Given the description of an element on the screen output the (x, y) to click on. 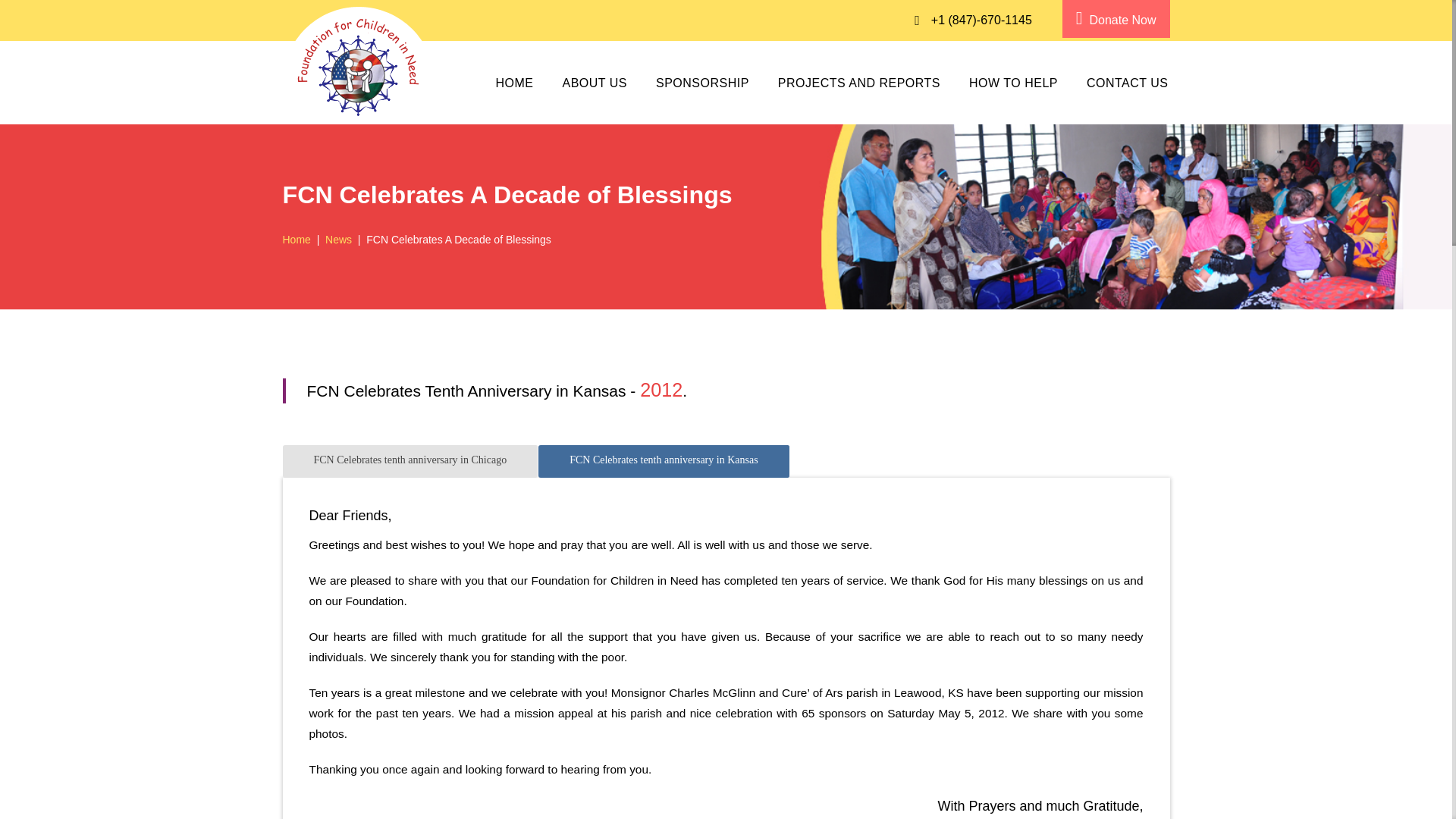
HOW TO HELP (1013, 82)
Home (296, 239)
ABOUT US (594, 82)
News (338, 239)
FCN Celebrates tenth anniversary in Chicago (410, 461)
HOME (513, 82)
CONTACT US (1126, 82)
SPONSORSHIP (702, 82)
FCN Celebrates tenth anniversary in Kansas (663, 461)
PROJECTS AND REPORTS (858, 82)
 Donate Now (1116, 18)
